Given the description of an element on the screen output the (x, y) to click on. 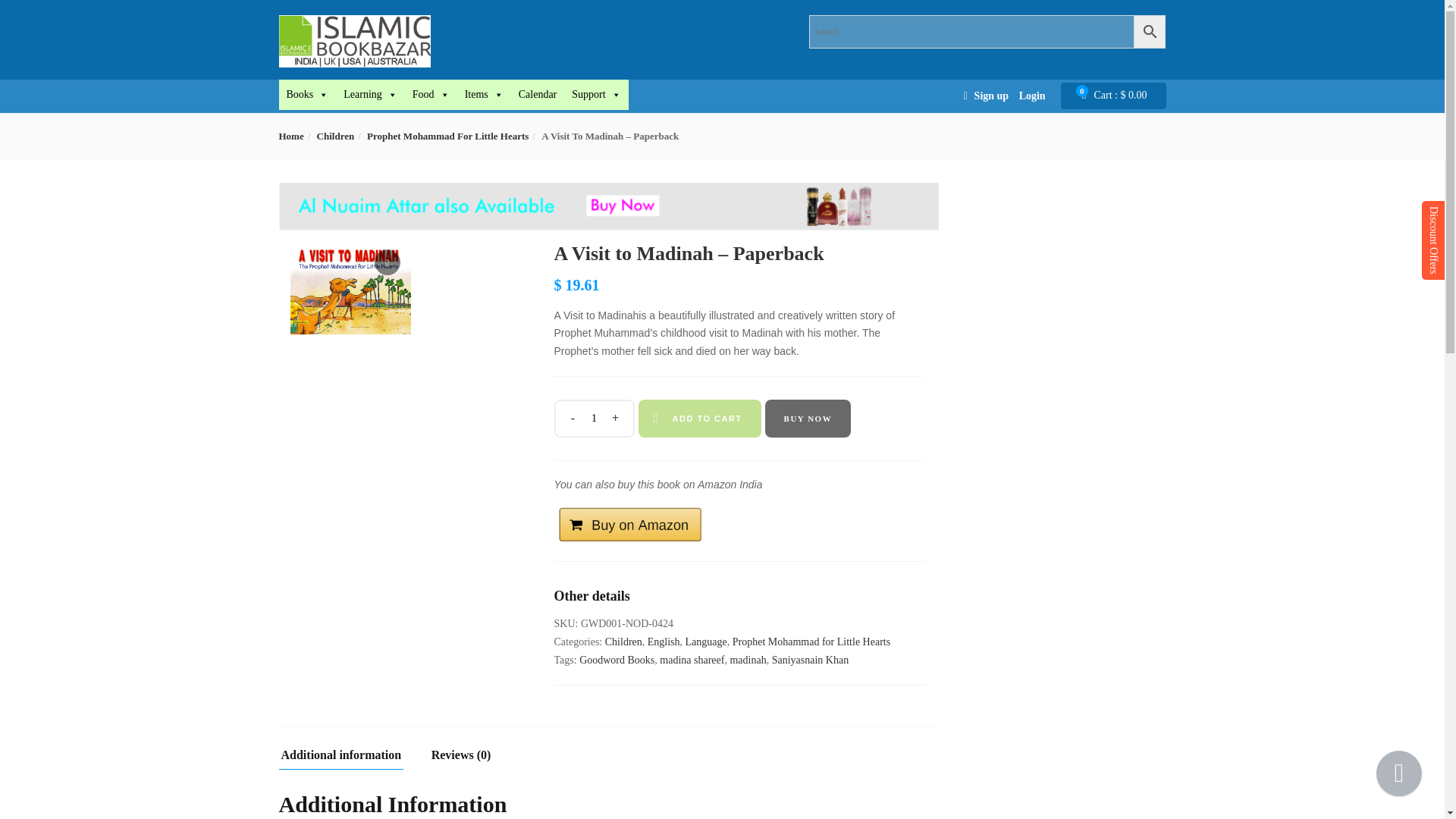
View your shopping cart (1119, 96)
1 (593, 418)
- (572, 418)
Sign up (991, 95)
Login (1032, 95)
Qty (593, 418)
